Given the description of an element on the screen output the (x, y) to click on. 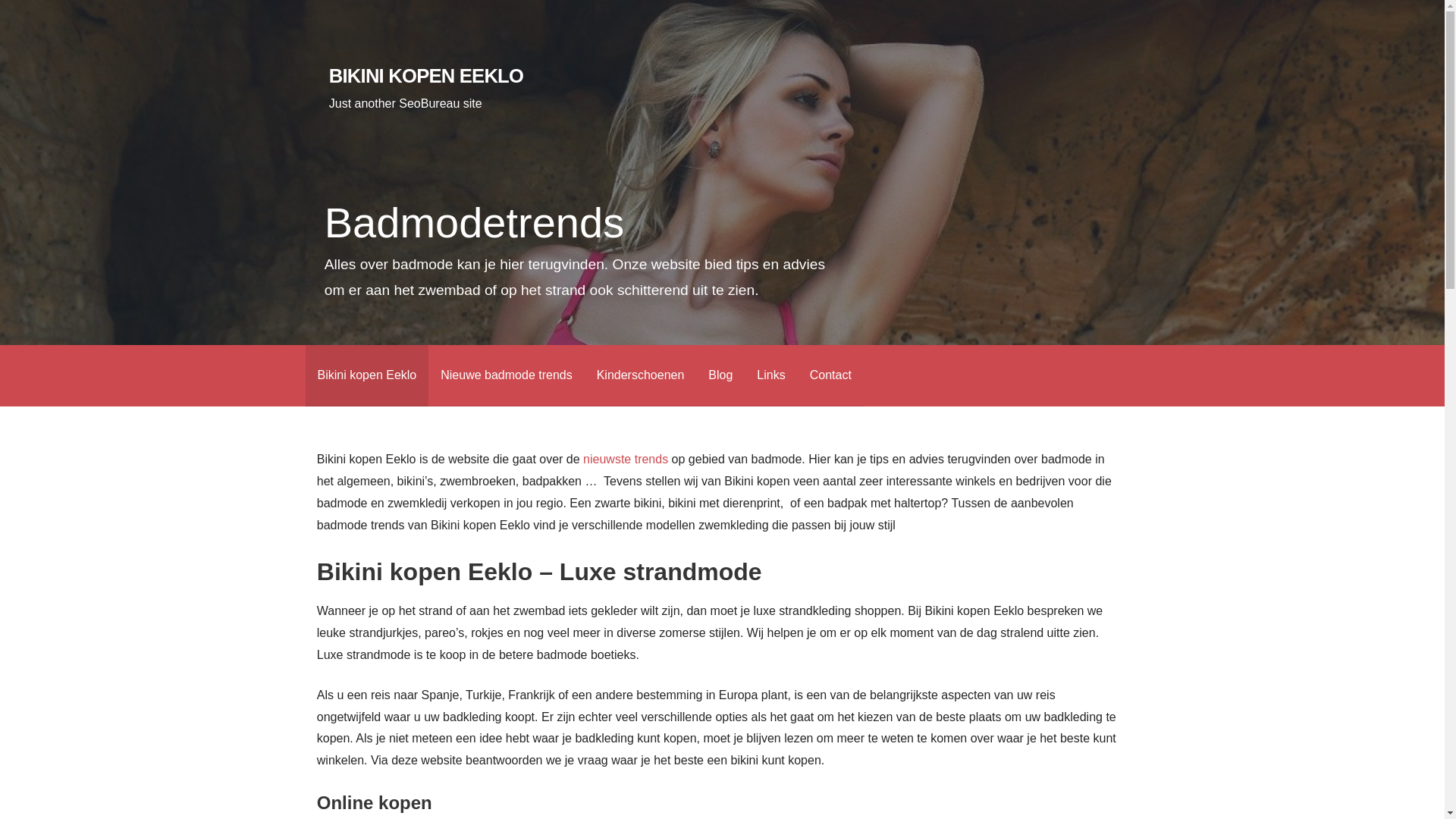
BIKINI KOPEN EEKLO Element type: text (426, 75)
Nieuwe badmode trends Element type: text (505, 375)
Bikini kopen Eeklo Element type: text (366, 375)
Naar inhoud gaan Element type: text (0, 0)
nieuwste trends Element type: text (625, 458)
Blog Element type: text (720, 375)
Contact Element type: text (830, 375)
Links Element type: text (770, 375)
Kinderschoenen Element type: text (640, 375)
